Given the description of an element on the screen output the (x, y) to click on. 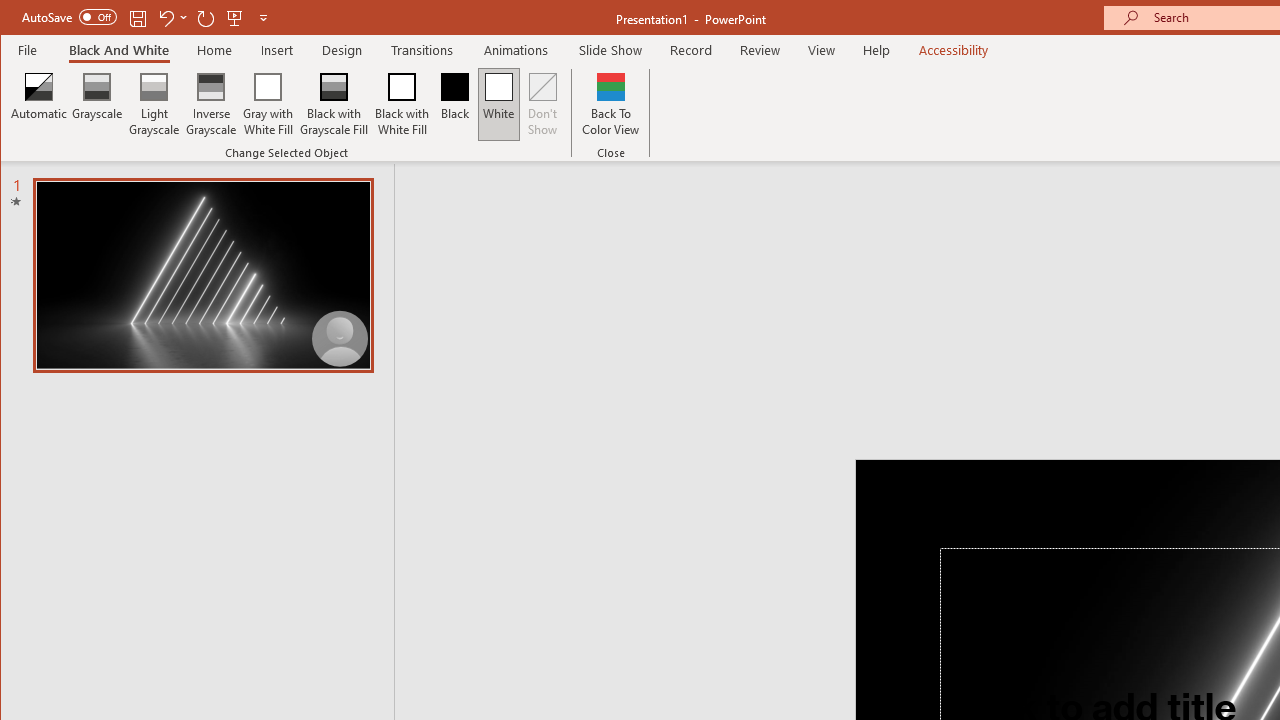
Black And White (118, 50)
Black (454, 104)
Grayscale (97, 104)
